Given the description of an element on the screen output the (x, y) to click on. 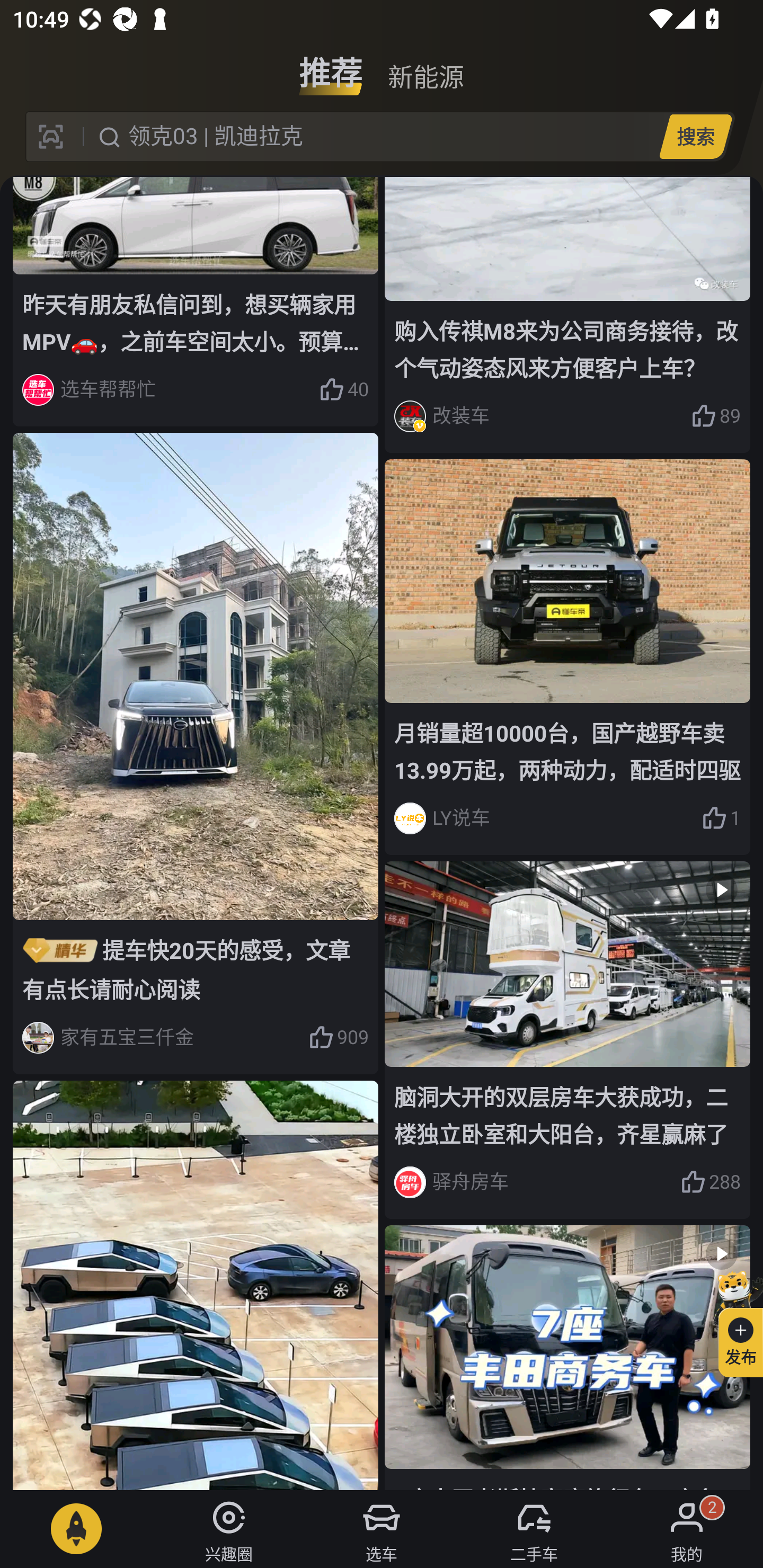
推荐 (330, 65)
新能源 (425, 65)
搜索 (695, 136)
购入传祺M8来为公司商务接待，改个气动姿态风来方便客户上车？ 改装车 89 (567, 315)
40 (343, 389)
89 (715, 416)
  提车快20天的感受，文章有点长请耐心阅读 家有五宝三仟金 909 (195, 753)
月销量超10000台，国产越野车卖13.99万起，两种动力，配适时四驱 LY说车 1 (567, 656)
1 (720, 818)
 脑洞大开的双层房车大获成功，二楼独立卧室和大阳台，齐星赢麻了 驿舟房车 288 (567, 1039)
909 (338, 1037)
288 (710, 1181)
 7座丰田考斯特家庭旅行车，商务车，成都丰田考斯特7座房车 (567, 1356)
发布 (732, 1321)
 兴趣圈 (228, 1528)
 选车 (381, 1528)
 二手车 (533, 1528)
 我的 (686, 1528)
